Given the description of an element on the screen output the (x, y) to click on. 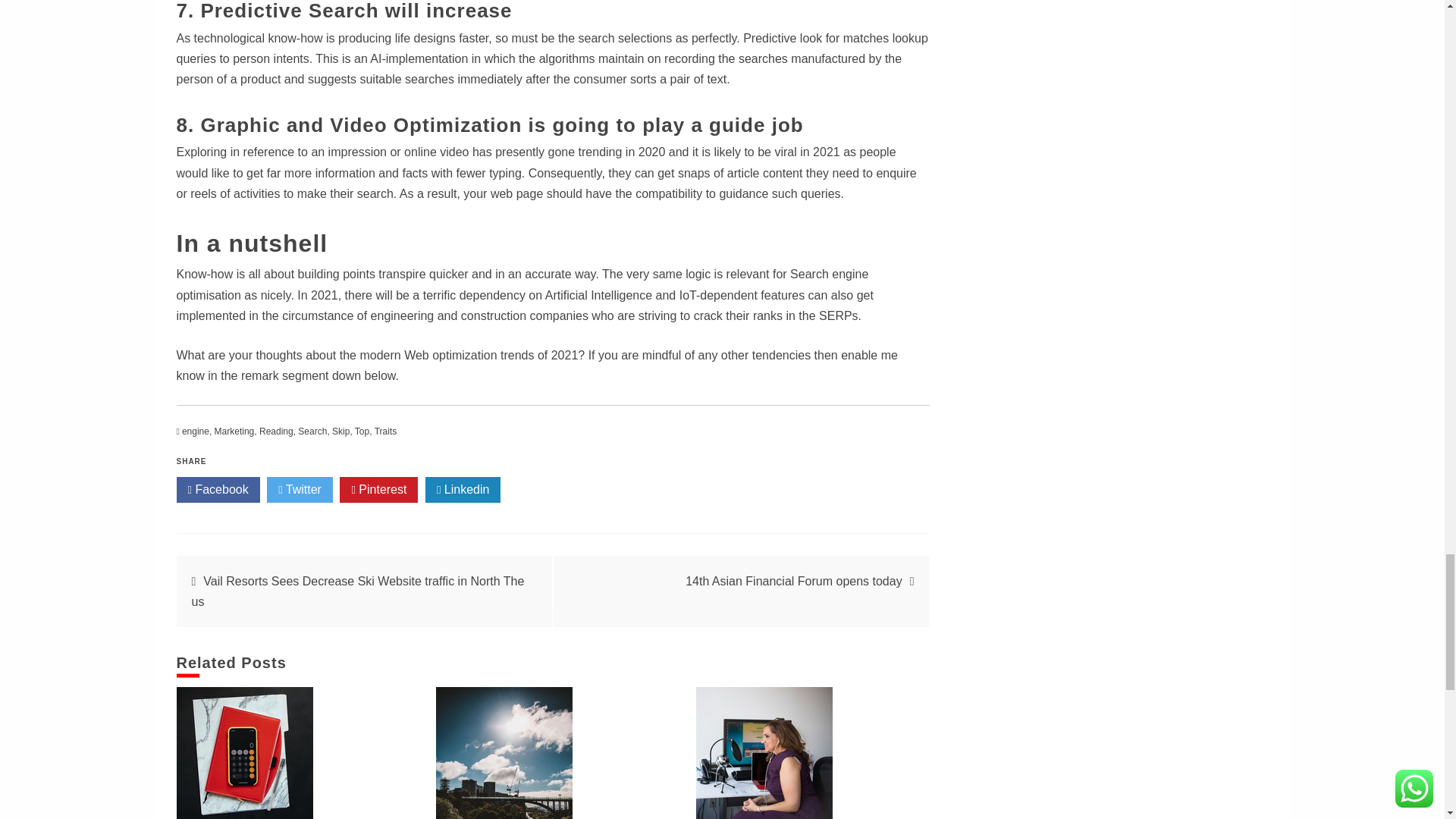
engine (195, 430)
How SEO and Social Media Marketing Interact (503, 753)
Local SEO Services to Promote Your Local Business (763, 753)
